Given the description of an element on the screen output the (x, y) to click on. 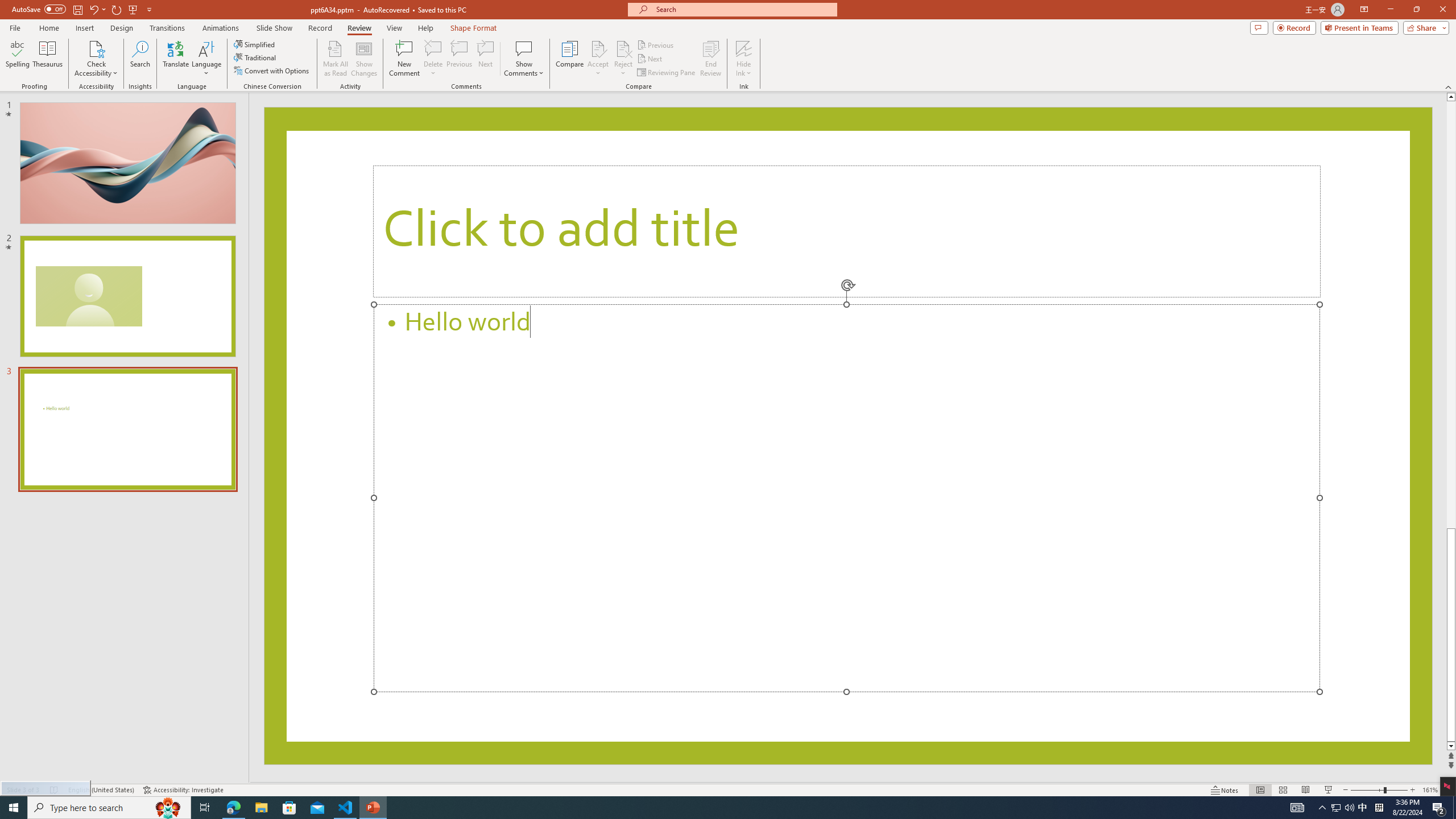
System (6, 6)
Close (1442, 9)
Reject (622, 58)
AutoSave (38, 9)
More Options (743, 68)
Microsoft search (742, 9)
Reading View (1305, 790)
Ribbon Display Options (1364, 9)
Zoom In (1412, 790)
Notes  (1225, 790)
Redo (117, 9)
Normal (1260, 790)
Slide Show (1328, 790)
Check Accessibility (95, 48)
Comments (1259, 27)
